Given the description of an element on the screen output the (x, y) to click on. 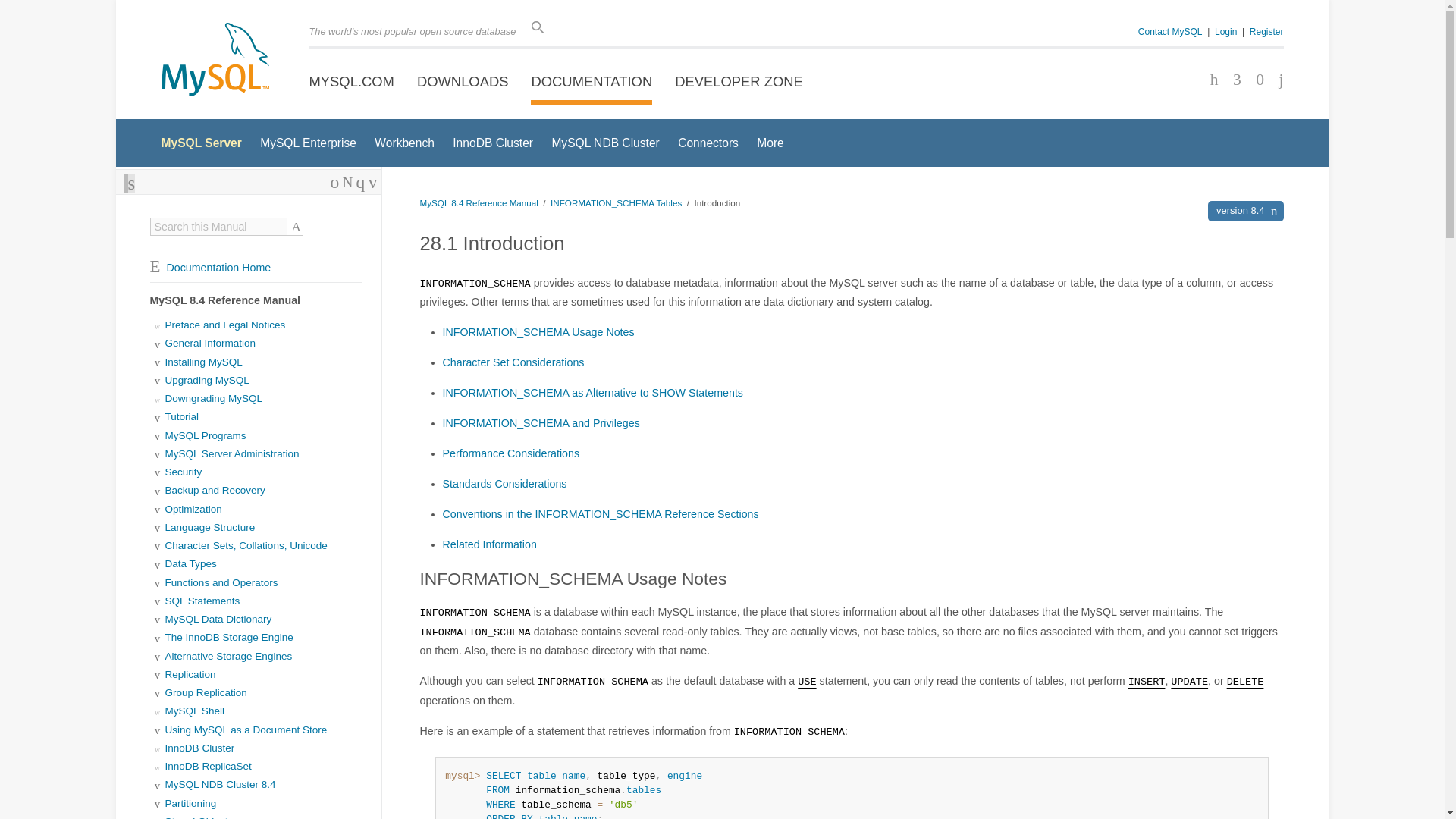
Follow us on LinkedIn (1253, 80)
Documentation Home (209, 267)
Workbench (403, 142)
Installing MySQL (204, 361)
InnoDB Cluster (492, 142)
DOWNLOADS (462, 81)
Contact MySQL (1170, 31)
Search this Manual (217, 226)
Search this Manual (217, 226)
More (770, 142)
